Given the description of an element on the screen output the (x, y) to click on. 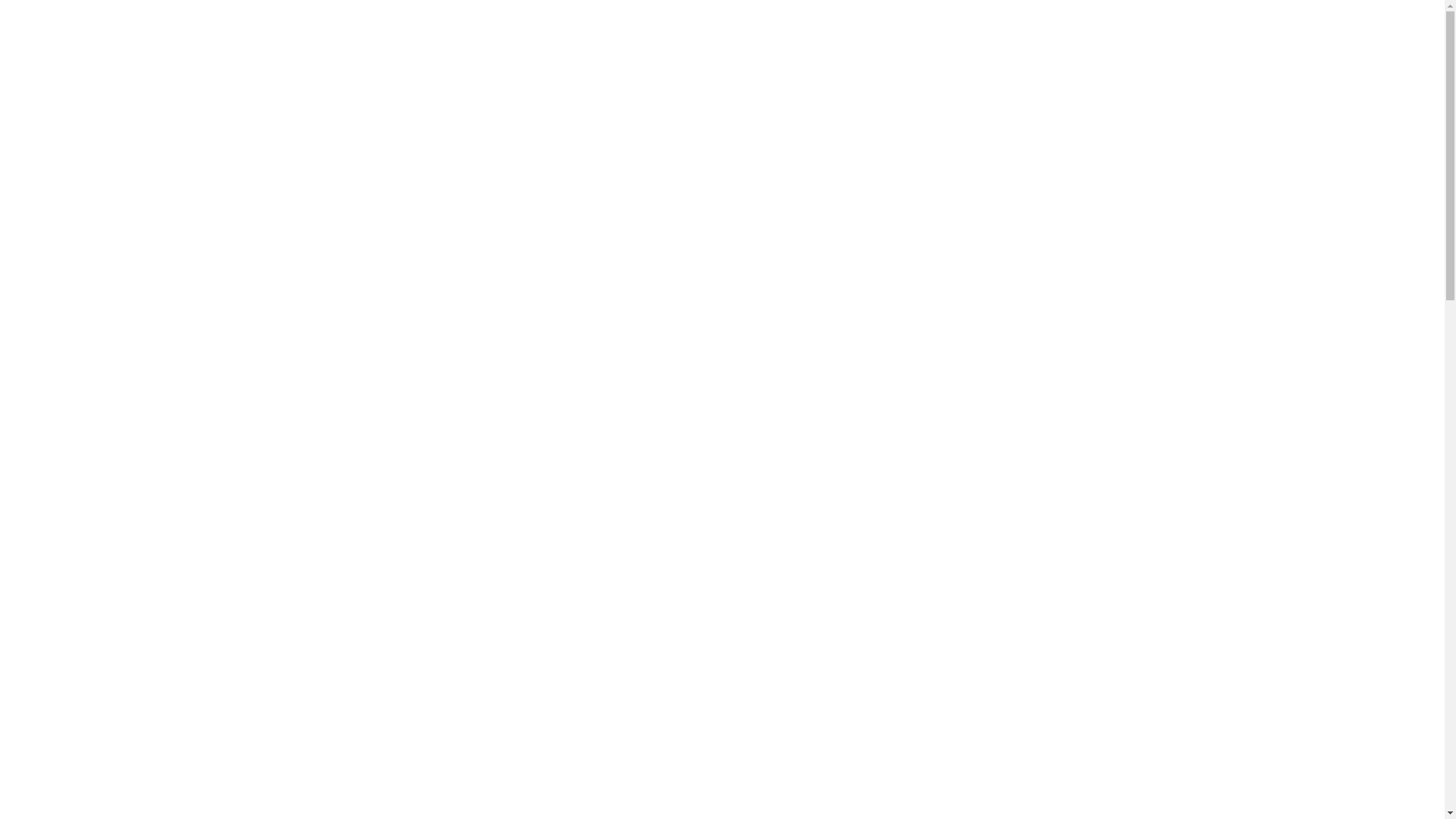
Projects Element type: text (52, 104)
Sustainability Element type: text (1246, 64)
Home Element type: text (46, 90)
Timber Species Element type: text (1121, 64)
Timber Species Element type: text (72, 268)
Contact Element type: text (51, 295)
Product Range Element type: text (70, 118)
Screenings Element type: text (90, 241)
F27 structural exterior timbers Element type: text (141, 172)
Cladding Element type: text (84, 145)
Projects Element type: text (889, 64)
Accoya Timber Element type: text (100, 131)
Contact Element type: text (1348, 64)
Flooring Element type: text (82, 186)
Sustainability Element type: text (65, 282)
Timber Machining Element type: text (108, 227)
Staircase timber Element type: text (104, 254)
Decking Element type: text (82, 159)
Laminated Timber Element type: text (108, 200)
Linings Element type: text (79, 213)
